Given the description of an element on the screen output the (x, y) to click on. 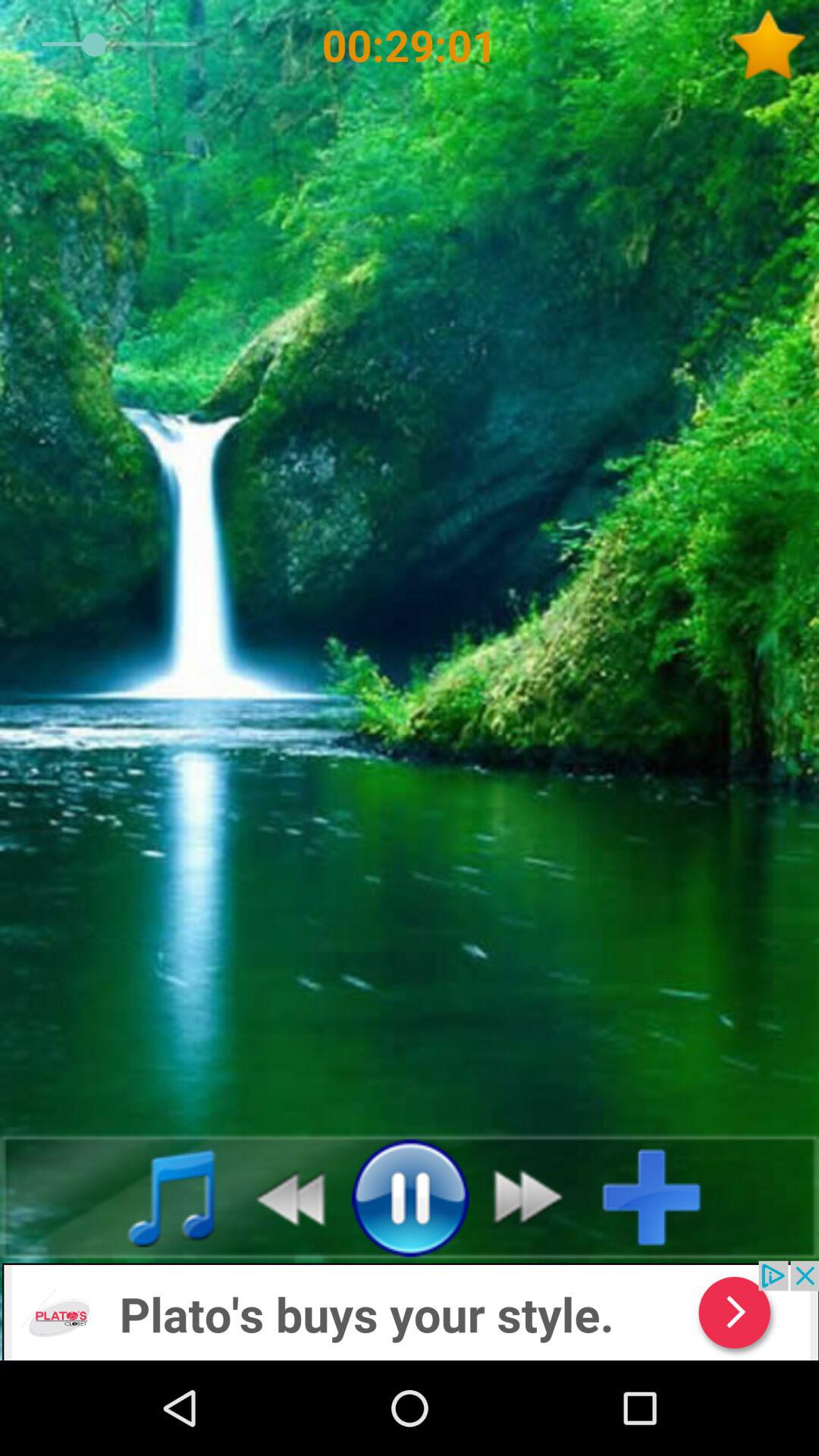
music options (154, 1196)
